Given the description of an element on the screen output the (x, y) to click on. 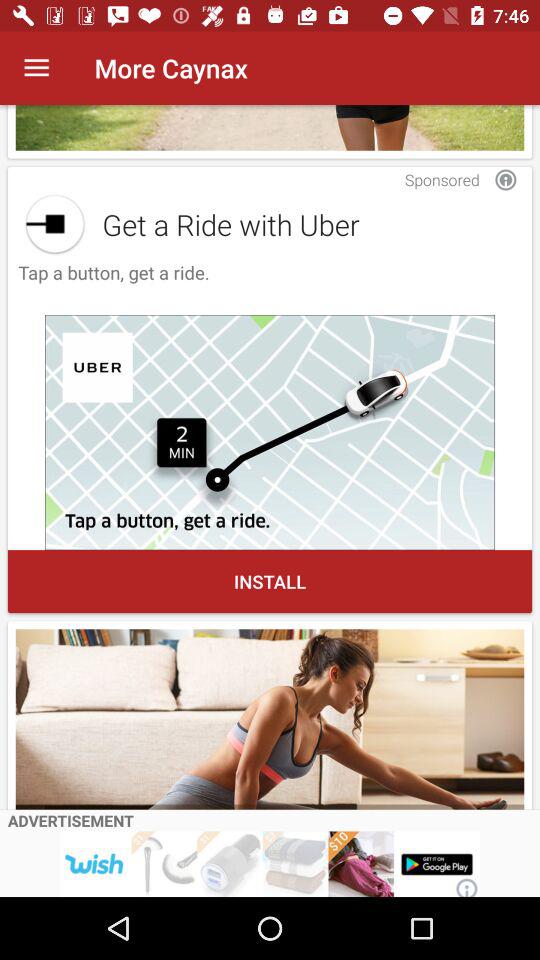
find transportation route (269, 432)
